Given the description of an element on the screen output the (x, y) to click on. 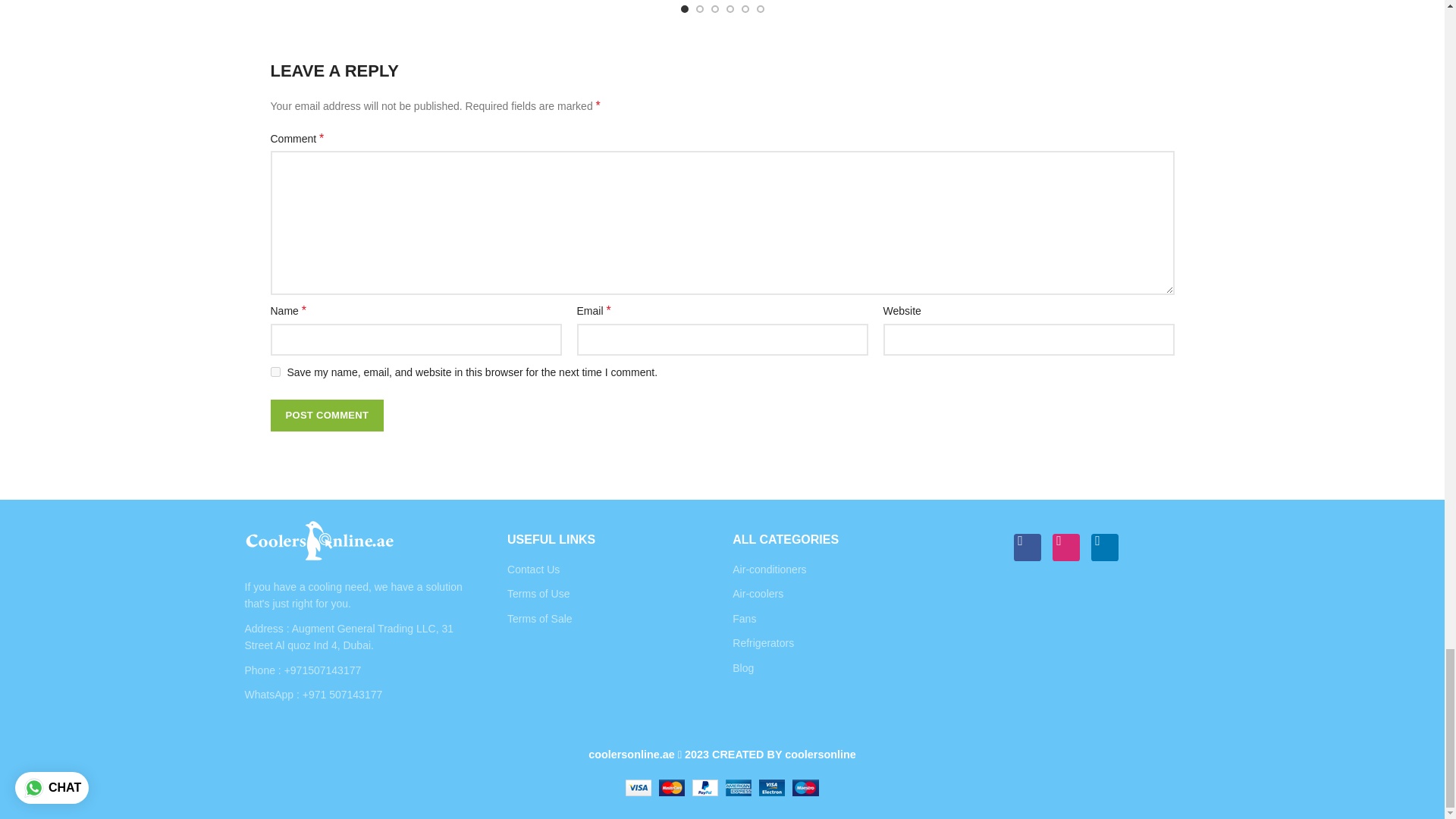
Post Comment (326, 415)
yes (274, 371)
